Given the description of an element on the screen output the (x, y) to click on. 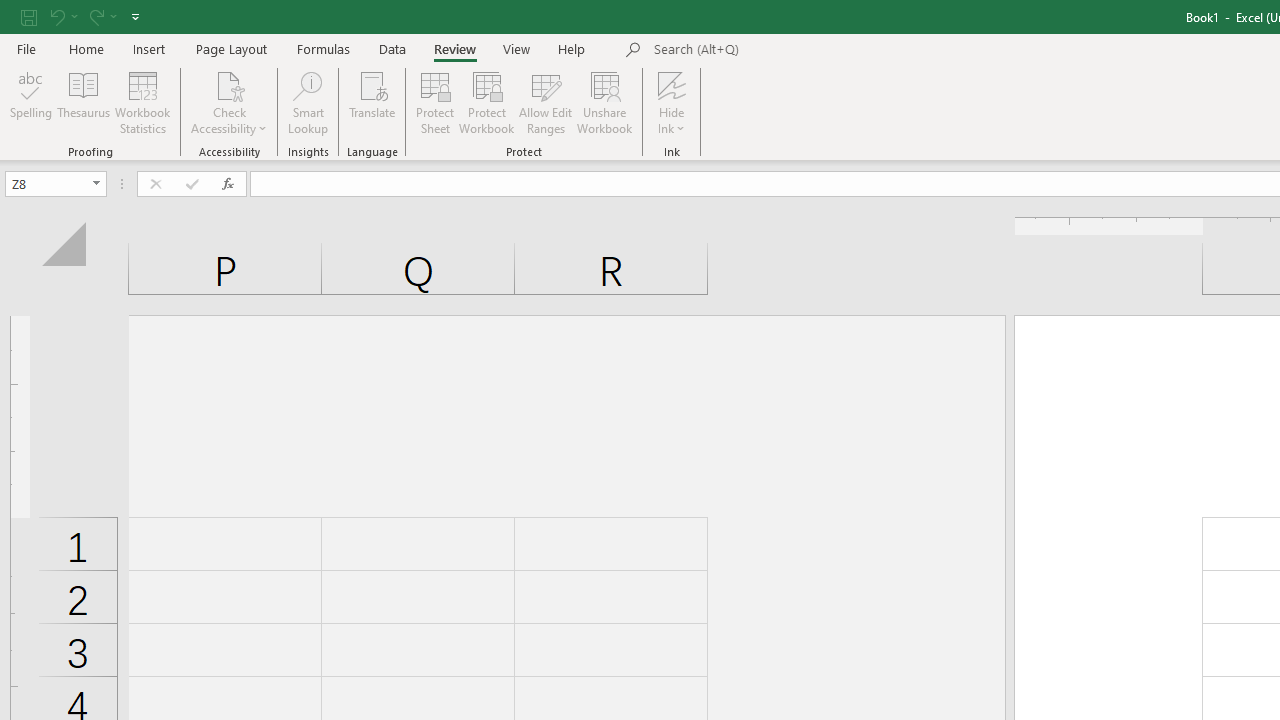
Check Accessibility (229, 84)
Open (96, 183)
Hide Ink (671, 102)
File Tab (26, 48)
Protect Workbook... (486, 102)
Data (392, 48)
Quick Access Toolbar (82, 16)
Check Accessibility (229, 102)
Home (86, 48)
Save (29, 15)
Help (572, 48)
Review (454, 48)
Unshare Workbook (604, 102)
